Given the description of an element on the screen output the (x, y) to click on. 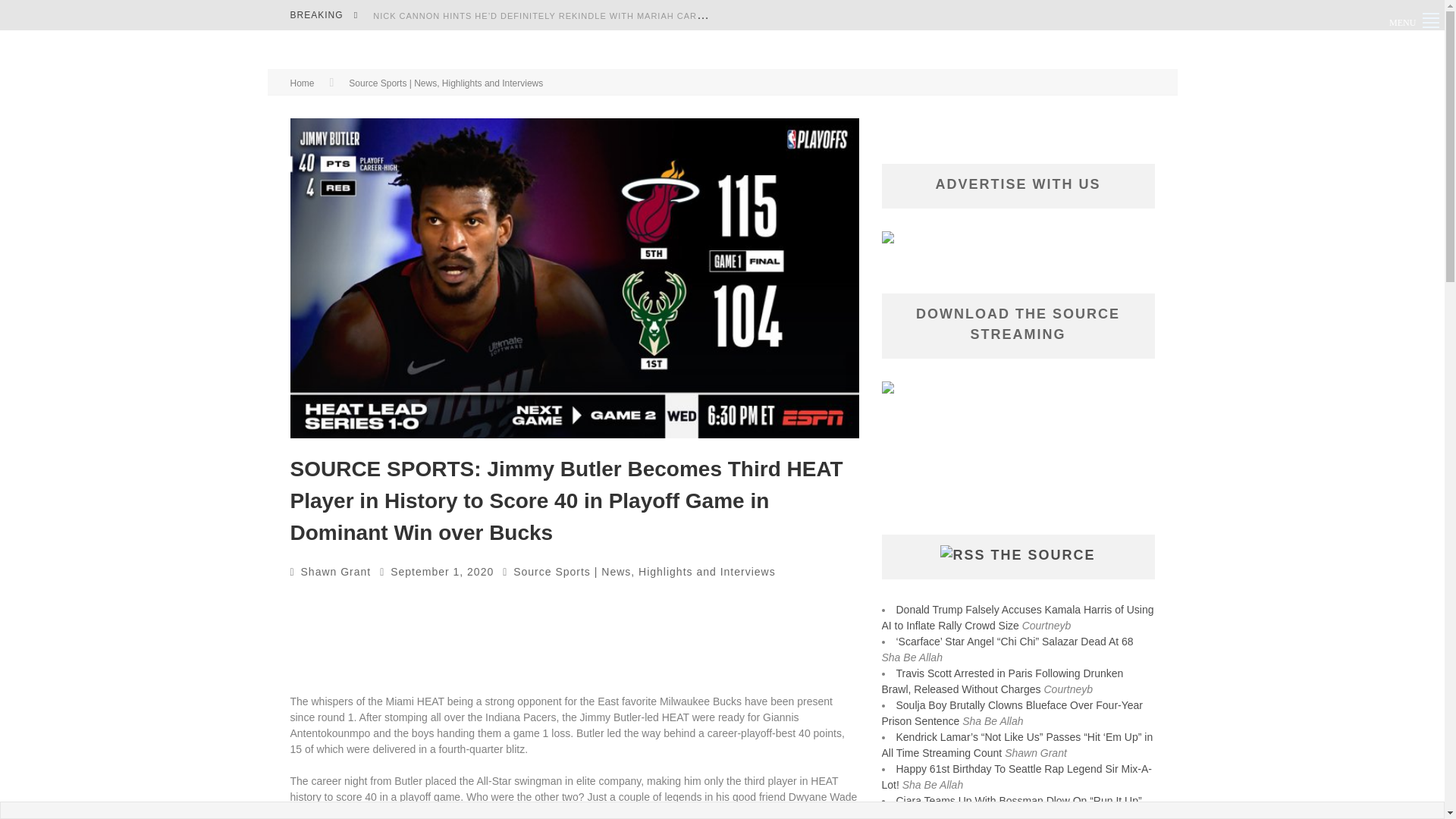
Shawn Grant (336, 571)
Home (301, 82)
